Given the description of an element on the screen output the (x, y) to click on. 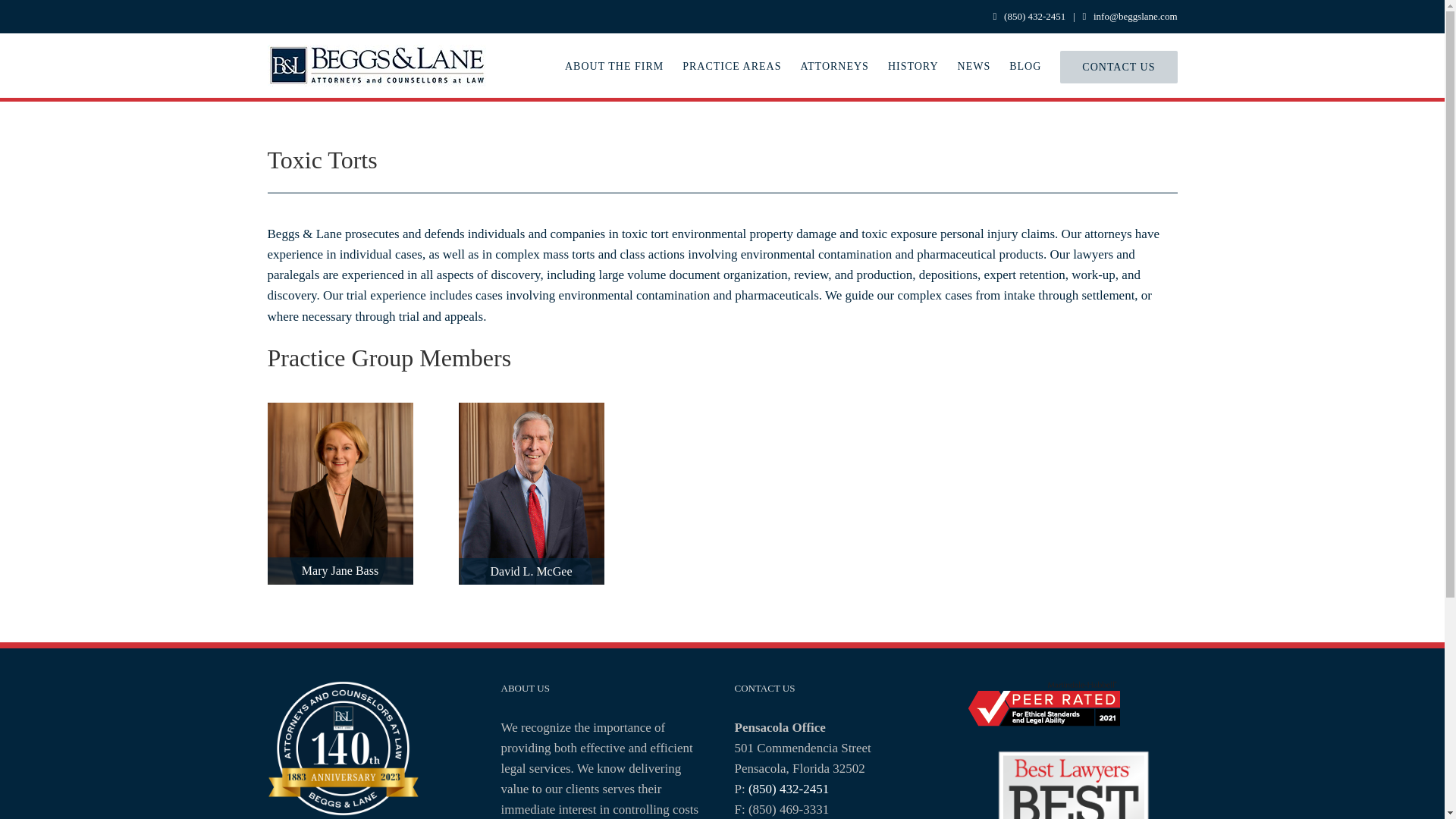
ABOUT THE FIRM (613, 65)
Mary Jane Bass (339, 412)
CONTACT US (1117, 65)
Best Lawyers Best Law Firm U.S. News And World Report 2022 (1072, 782)
Peer Rated For Ethical Standards And Legal Ability 2021 (1043, 703)
ATTORNEYS (833, 65)
PRACTICE AREAS (731, 65)
David L. McGee (531, 412)
